Given the description of an element on the screen output the (x, y) to click on. 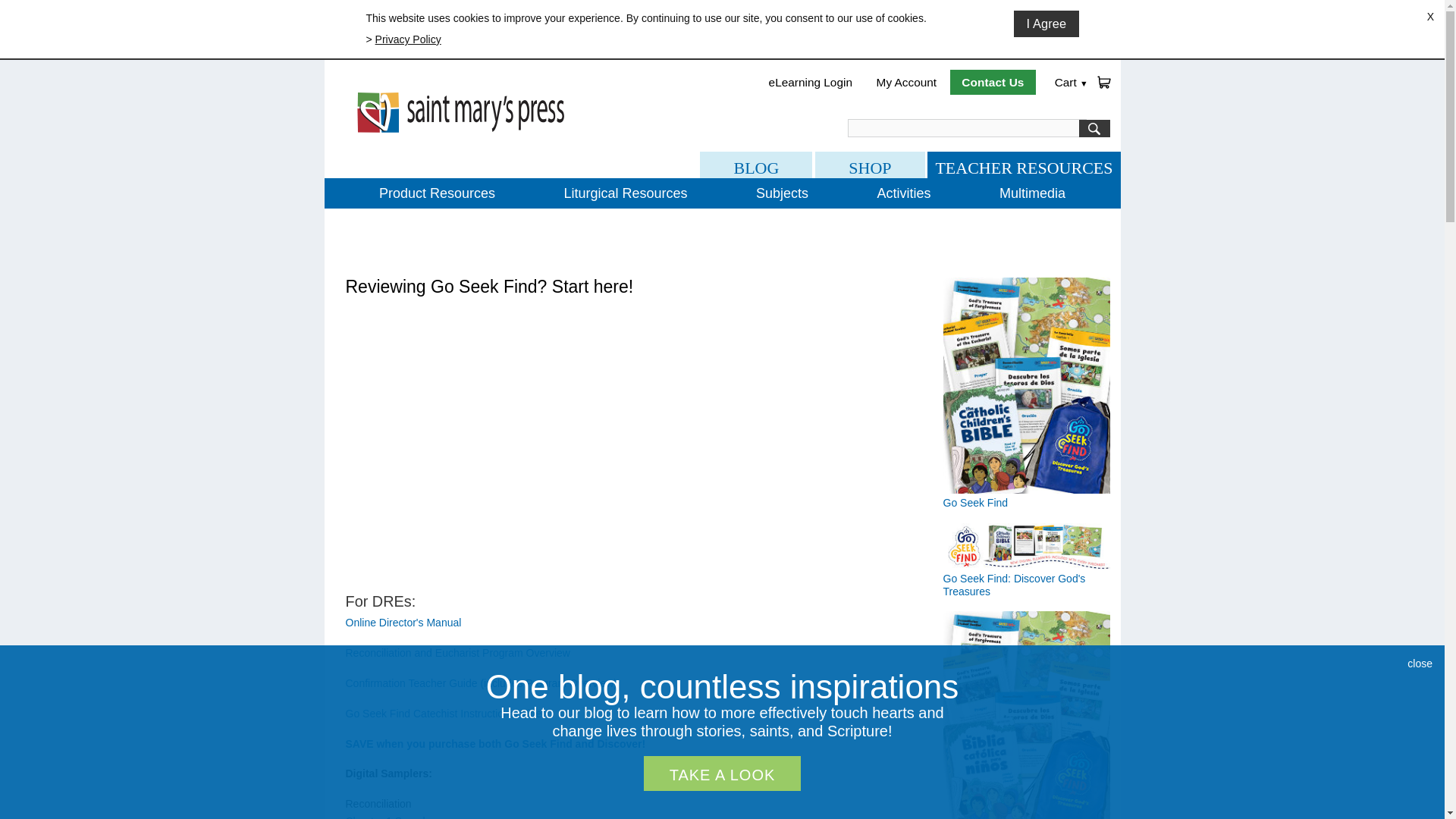
SHOP (869, 164)
Privacy Policy (408, 39)
My Account (906, 82)
I Agree (1045, 23)
TEACHER RESOURCES (1023, 164)
BLOG (756, 164)
Contact Us (992, 81)
YouTube video player (558, 446)
eLearning Login (810, 82)
Product Resources (436, 193)
